Given the description of an element on the screen output the (x, y) to click on. 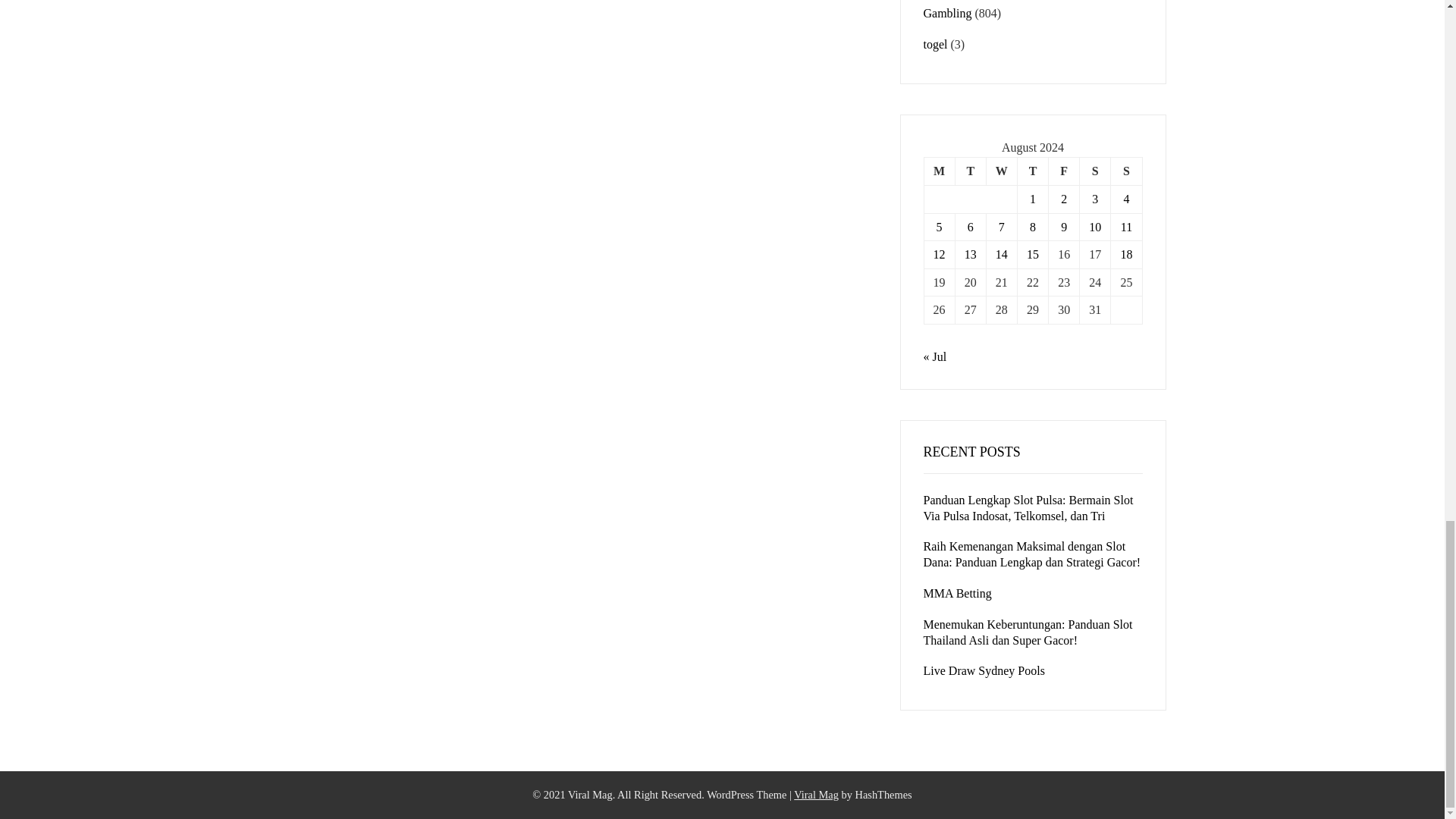
Wednesday (1000, 171)
Sunday (1125, 171)
Saturday (1095, 171)
Friday (1064, 171)
Monday (939, 171)
Thursday (1032, 171)
Tuesday (970, 171)
Download Viral News (815, 794)
